Given the description of an element on the screen output the (x, y) to click on. 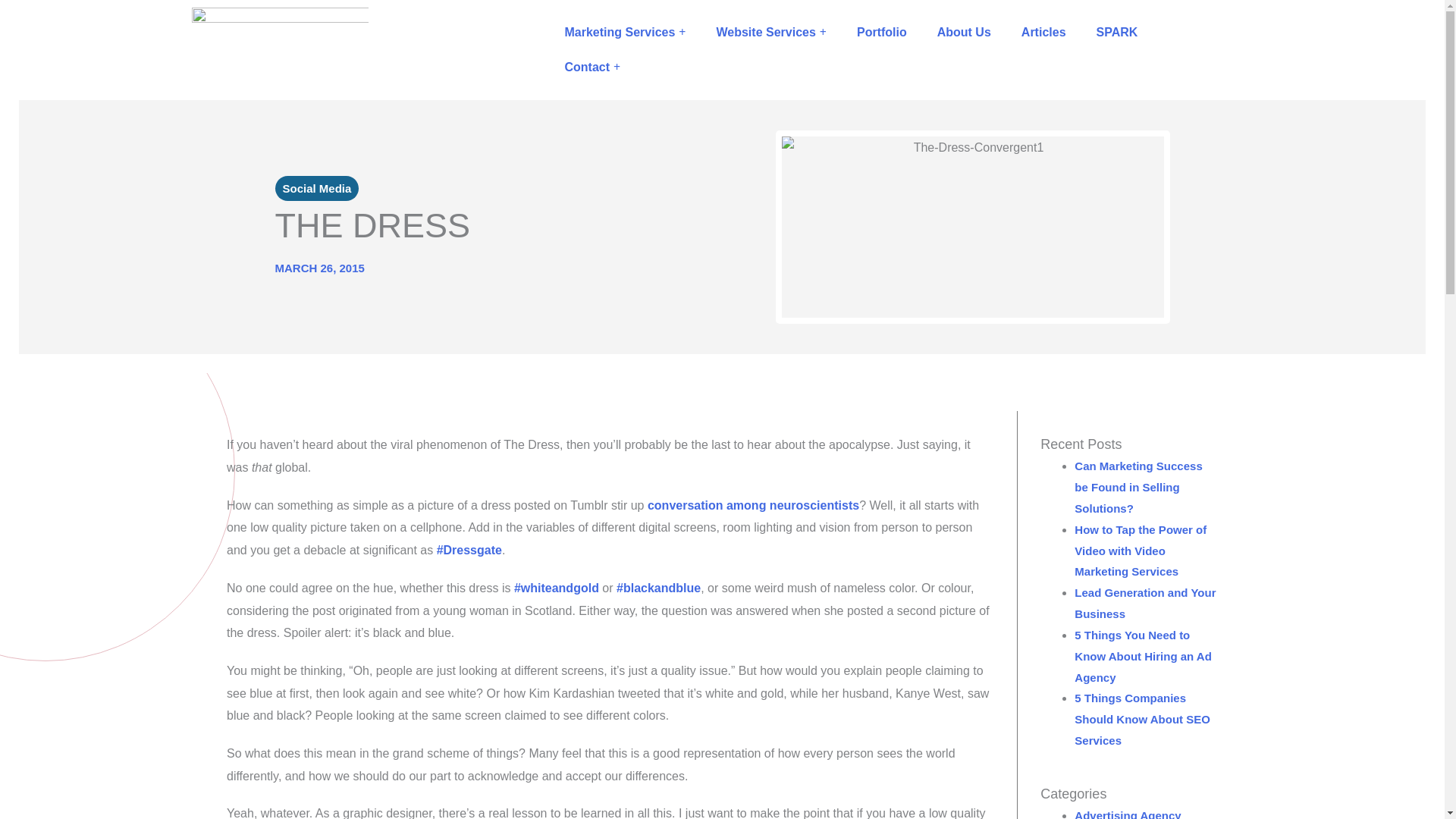
Articles (1043, 32)
SPARK (1117, 32)
Portfolio (881, 32)
About Us (963, 32)
Marketing Services (624, 32)
Website Services (770, 32)
Contact (591, 67)
